Given the description of an element on the screen output the (x, y) to click on. 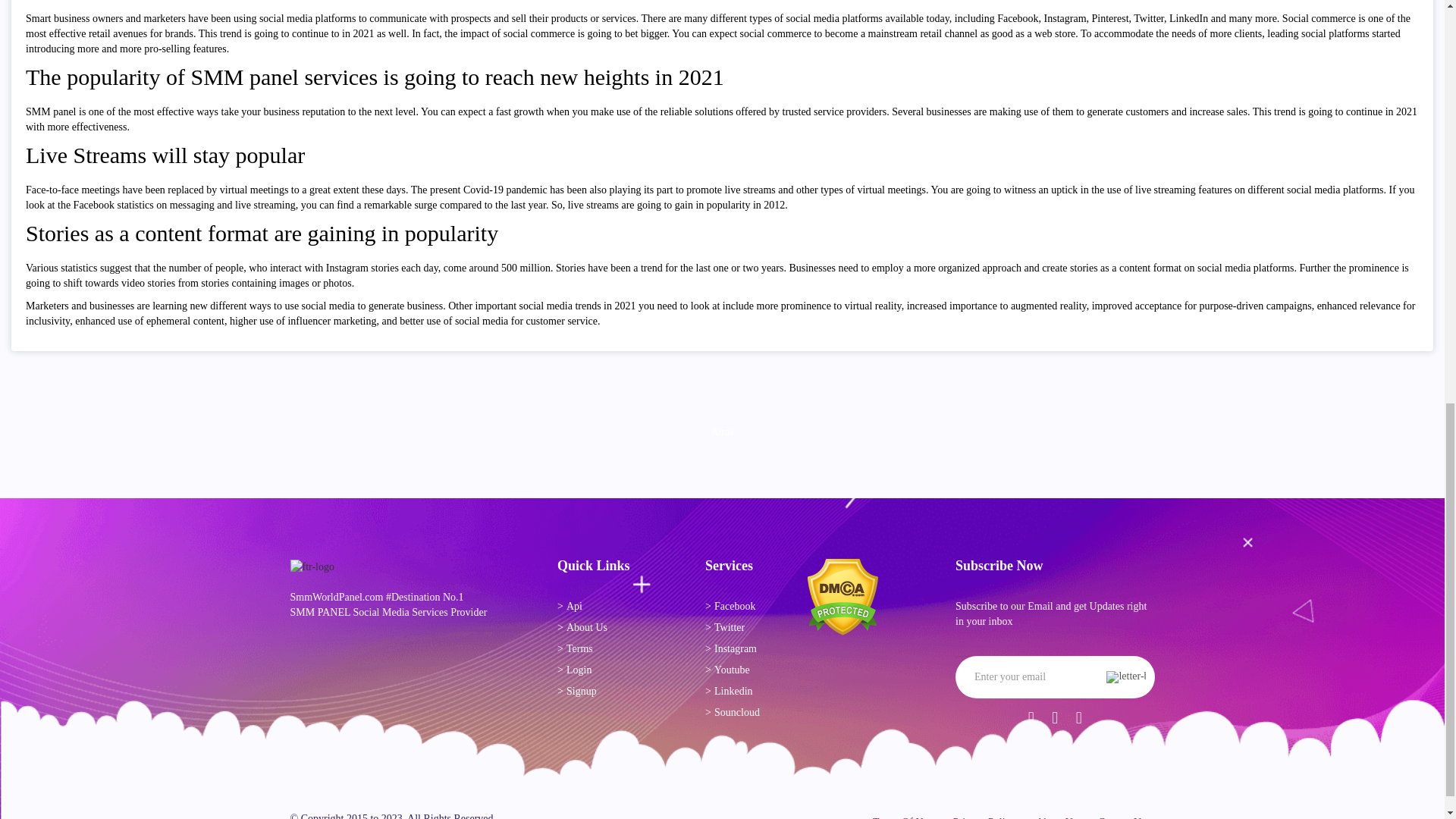
Login (597, 670)
Souncloud (744, 712)
DMCA.com Protection Status (842, 595)
Api (597, 606)
Signup (597, 691)
Facebook (744, 606)
Youtube (744, 670)
Terms (597, 648)
Twitter (744, 627)
Instagram (744, 648)
About Us (597, 627)
Linkedin (744, 691)
